Given the description of an element on the screen output the (x, y) to click on. 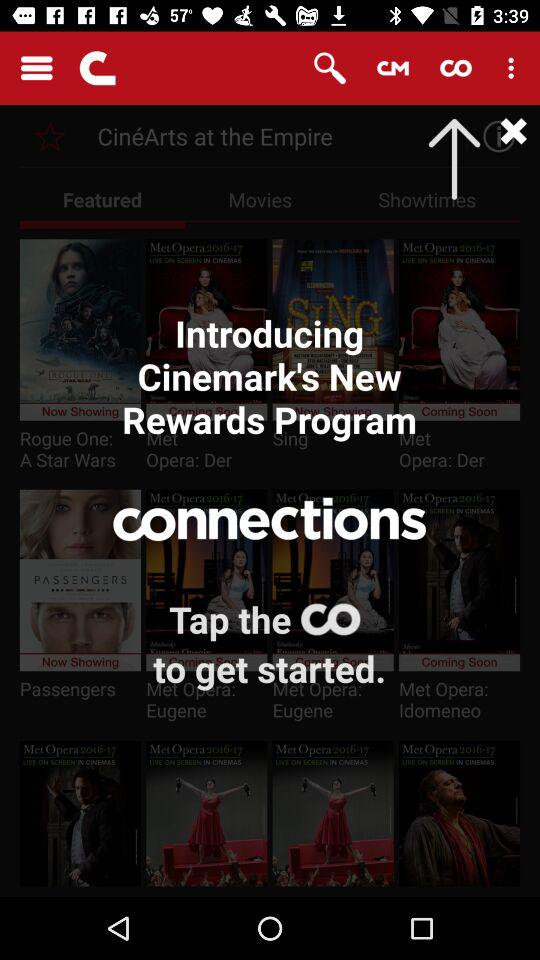
favorite (49, 136)
